Given the description of an element on the screen output the (x, y) to click on. 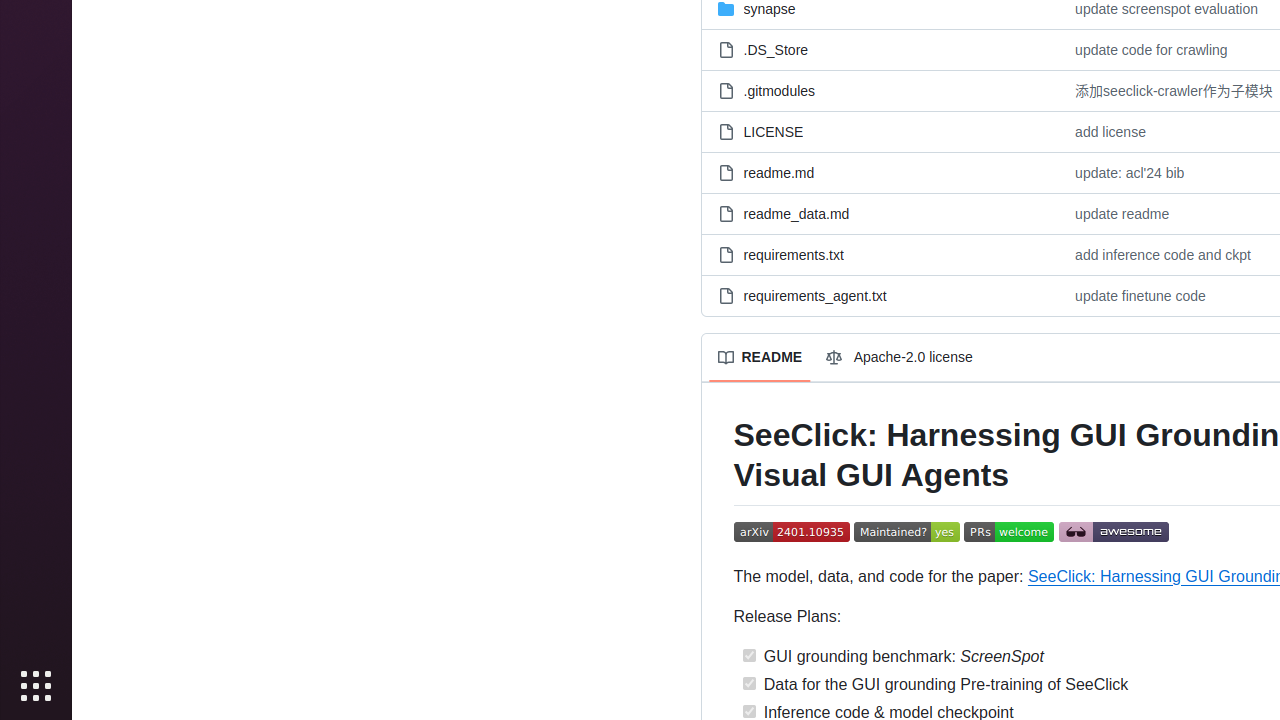
readme.md, (File) Element type: link (779, 172)
add license Element type: link (1110, 131)
update: acl'24 bib Element type: link (1130, 172)
Show Applications Element type: toggle-button (36, 686)
Awesome Element type: link (1113, 533)
